Given the description of an element on the screen output the (x, y) to click on. 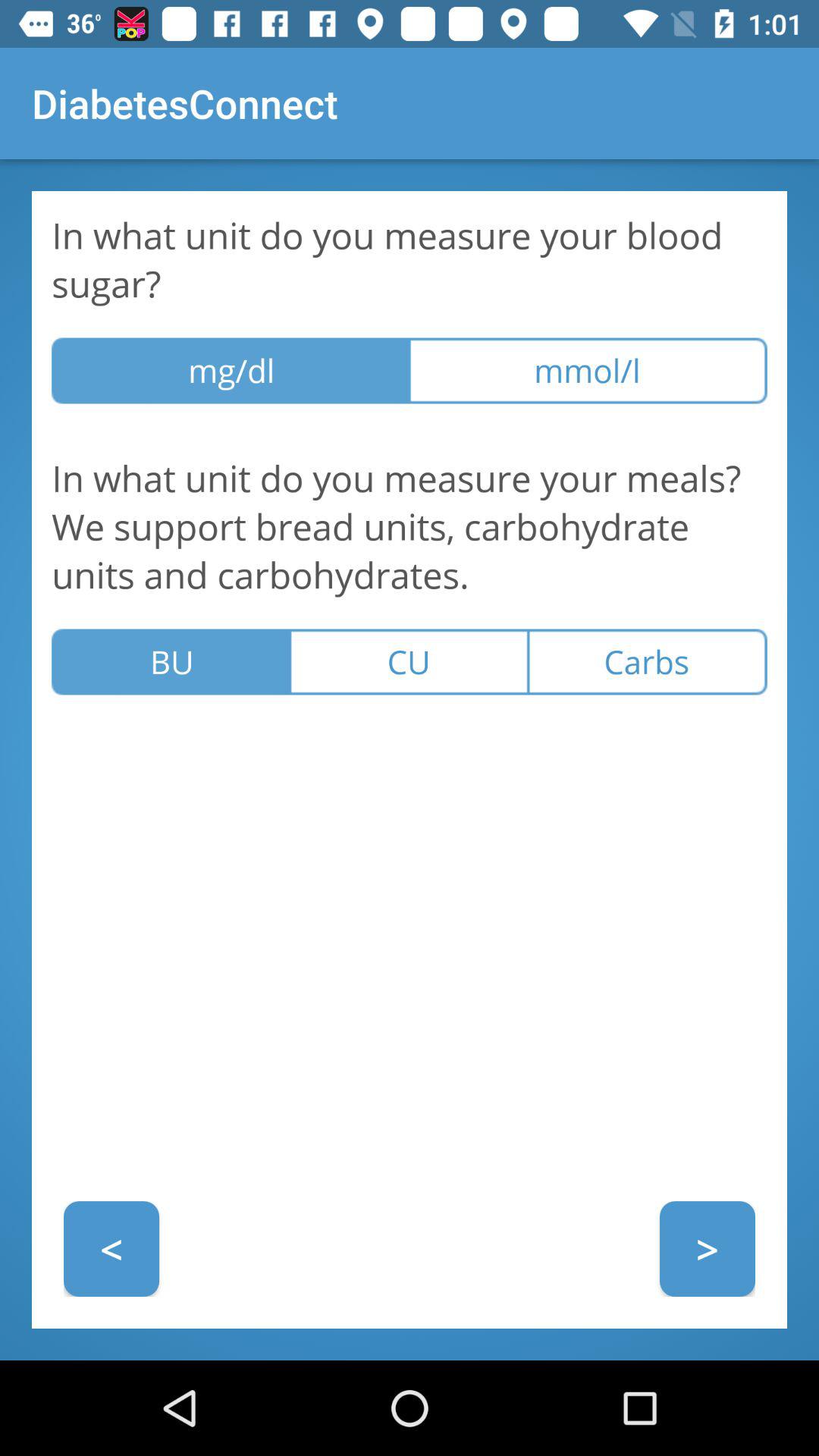
press icon above in what unit (588, 370)
